Given the description of an element on the screen output the (x, y) to click on. 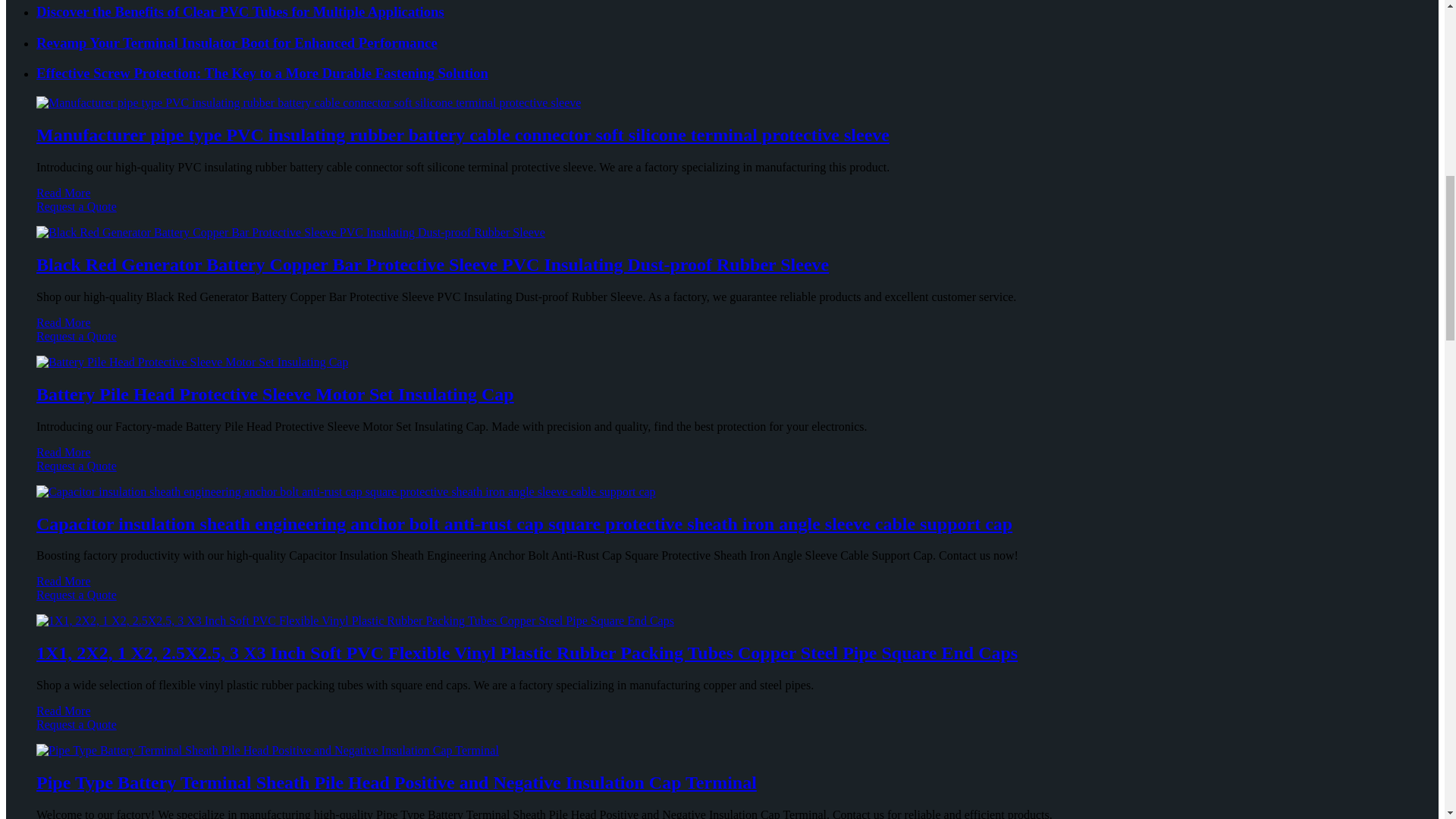
Request a Quote (721, 213)
Read More (63, 192)
Read More (63, 322)
